Given the description of an element on the screen output the (x, y) to click on. 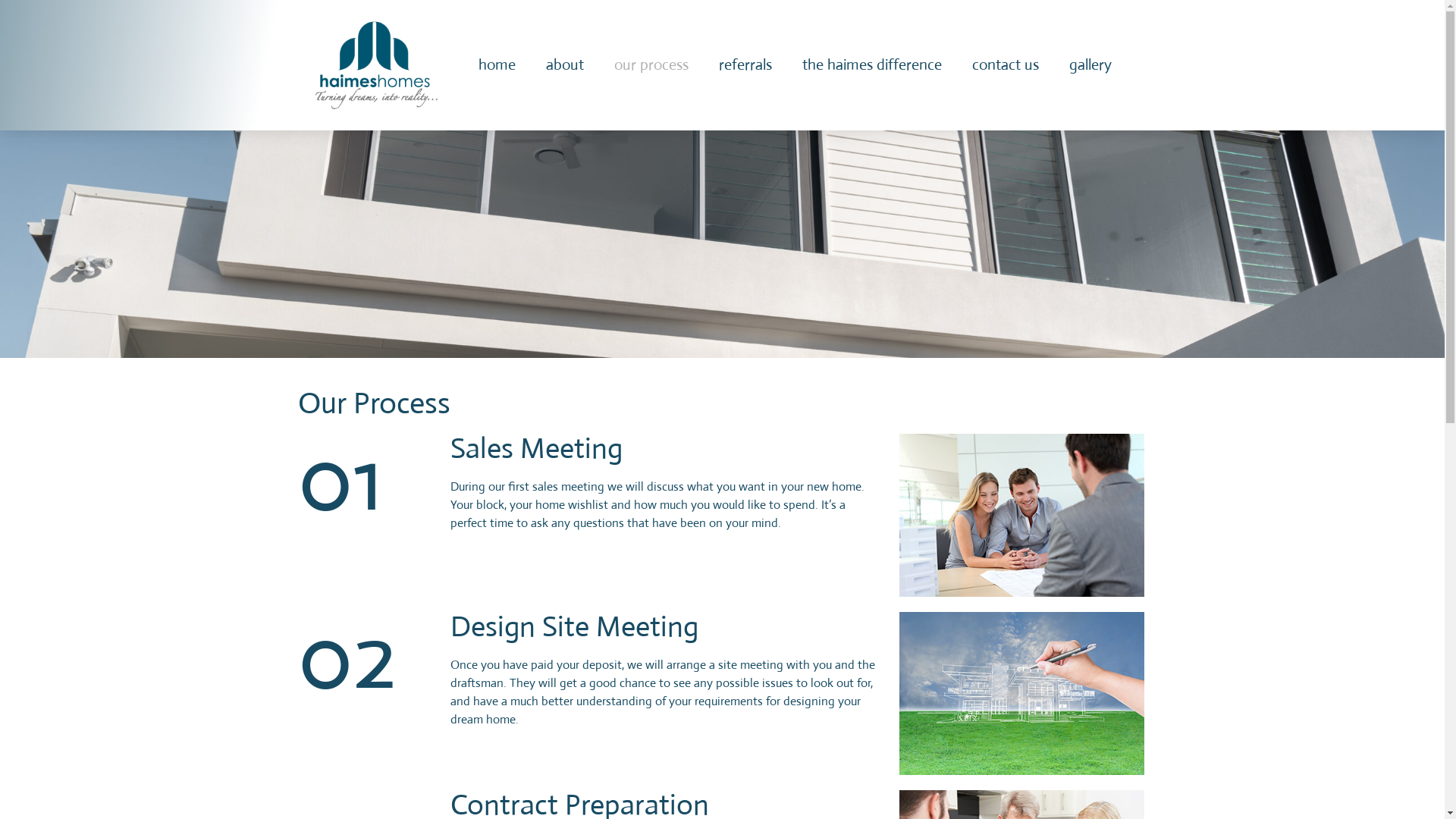
our process Element type: text (651, 65)
about Element type: text (564, 65)
gallery Element type: text (1090, 65)
the haimes difference Element type: text (872, 65)
home Element type: text (496, 65)
contact us Element type: text (1005, 65)
referrals Element type: text (745, 65)
